Given the description of an element on the screen output the (x, y) to click on. 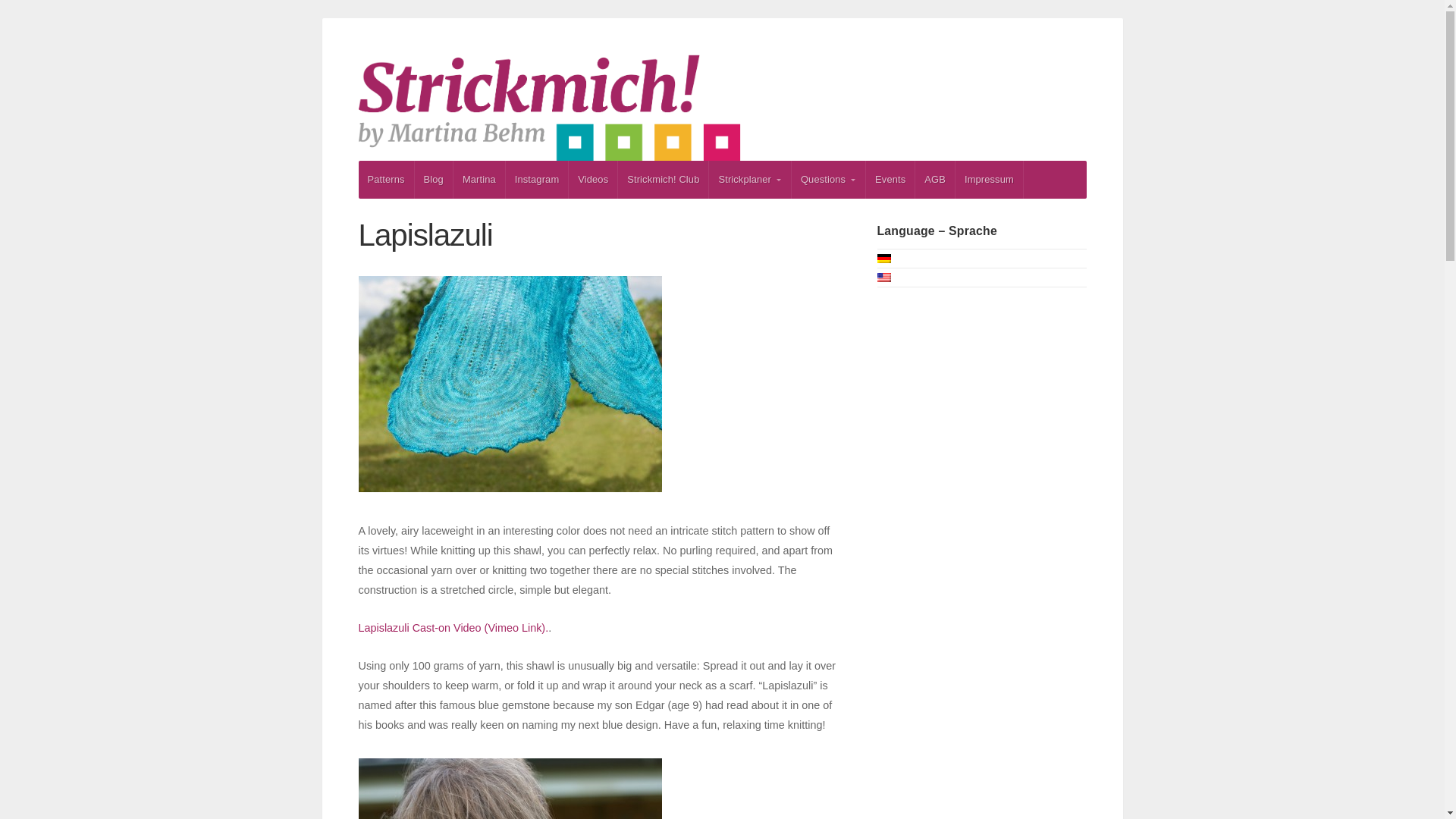
Impressum (989, 179)
Patterns (385, 179)
Strickmich! Club (662, 179)
Videos (593, 179)
Strickmich! by Martina Behm (722, 107)
AGB (935, 179)
Martina (478, 179)
Strickplaner (749, 179)
Deutsch (882, 257)
Blog (433, 179)
Instagram (537, 179)
Questions (828, 179)
Events (890, 179)
English (882, 276)
